Given the description of an element on the screen output the (x, y) to click on. 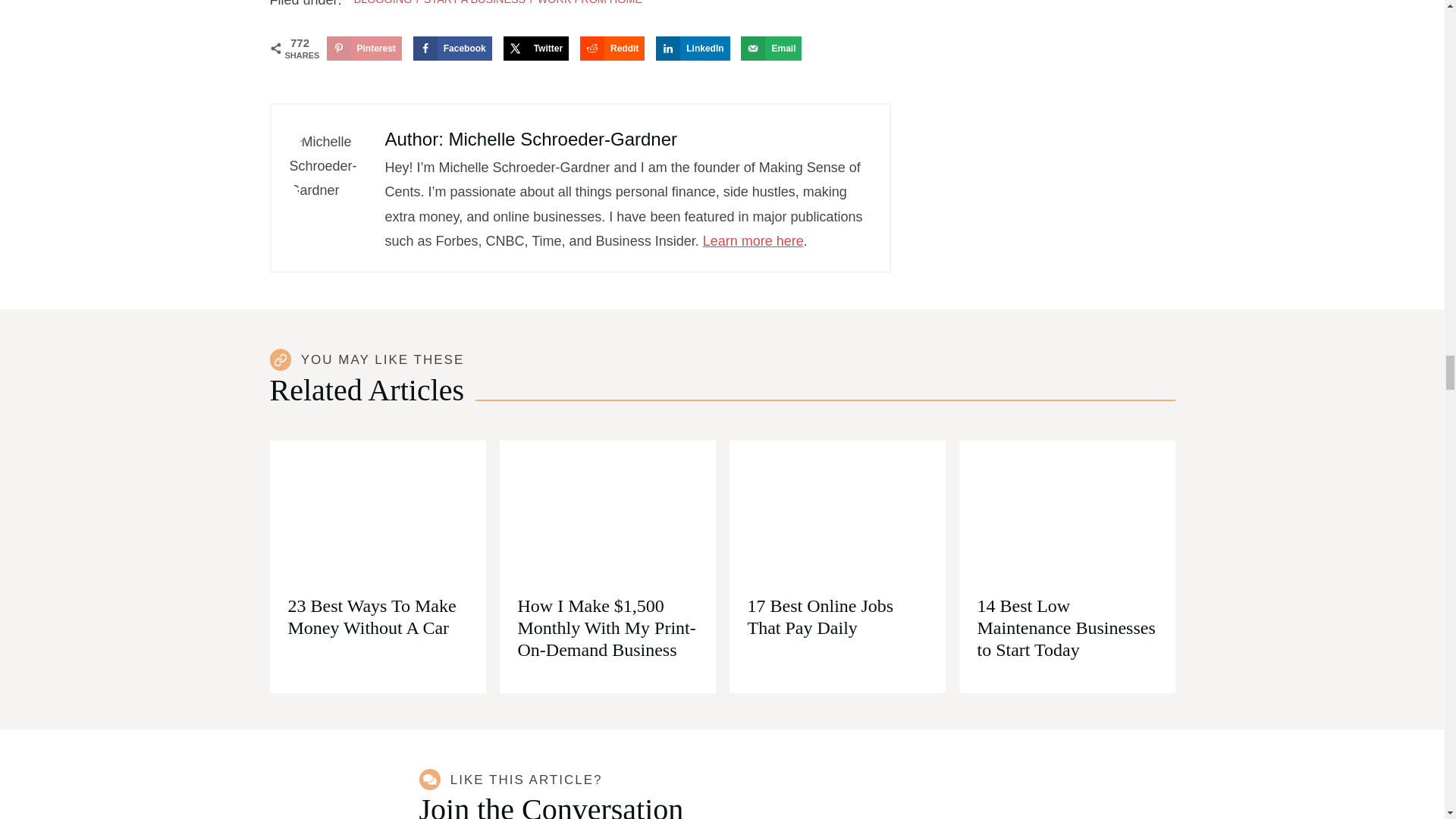
23 Best Ways To Make Money Without A Car (377, 512)
WORK FROM HOME (589, 2)
START A BUSINESS (474, 2)
Share on Reddit (612, 48)
Save to Pinterest (363, 48)
Pinterest (363, 48)
Send over email (771, 48)
BLOGGING (382, 2)
Share on X (536, 48)
23 Best Ways To Make Money Without A Car (372, 617)
Share on Facebook (452, 48)
Share on LinkedIn (692, 48)
